Given the description of an element on the screen output the (x, y) to click on. 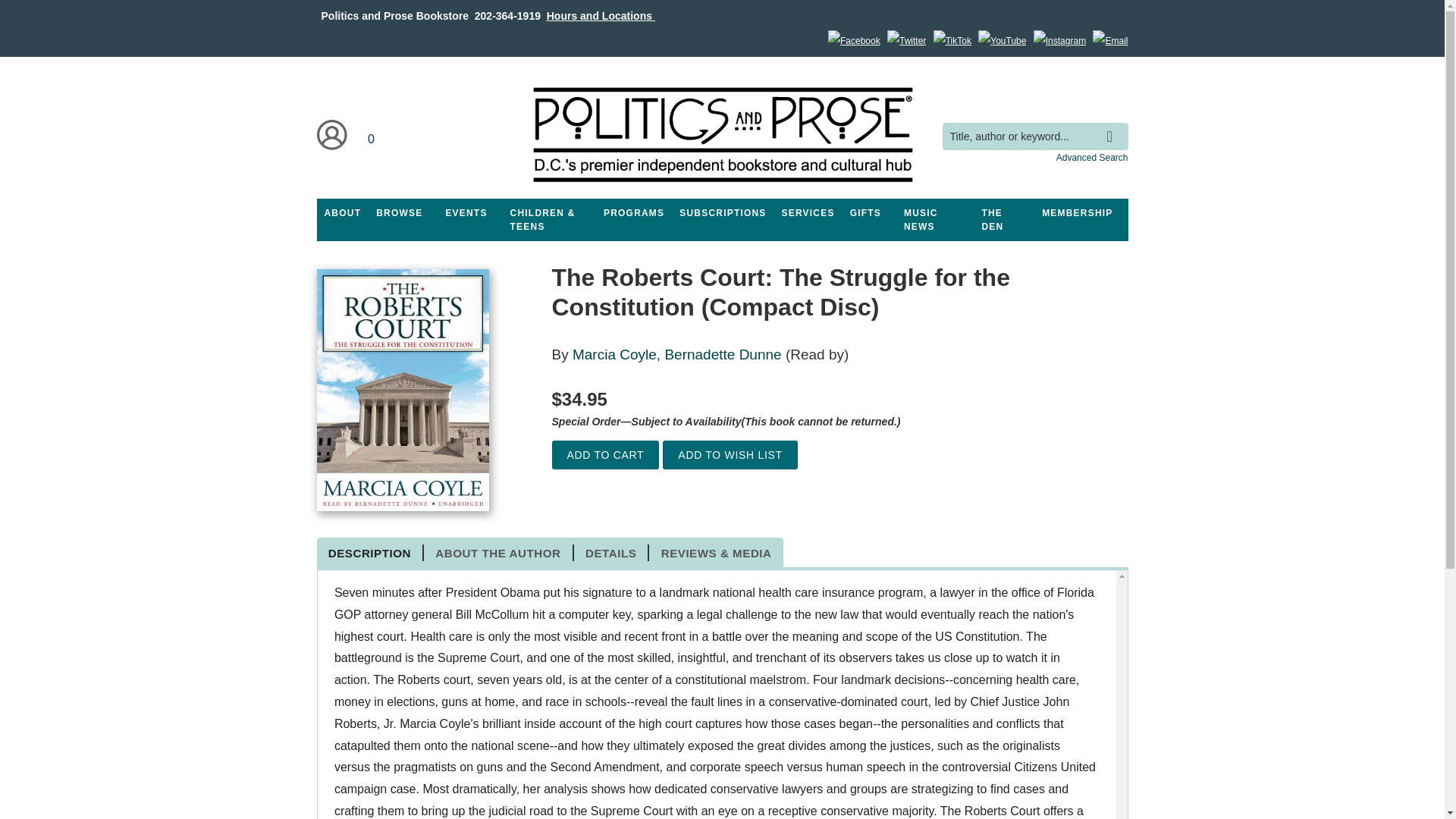
See information about our programs (633, 213)
search (1112, 124)
SUBSCRIPTIONS (722, 213)
PROGRAMS (633, 213)
SERVICES (808, 213)
search (1112, 124)
Advanced Search (1092, 157)
Children and Teens Department (548, 219)
Add to Wish List (729, 455)
Home (721, 135)
